Given the description of an element on the screen output the (x, y) to click on. 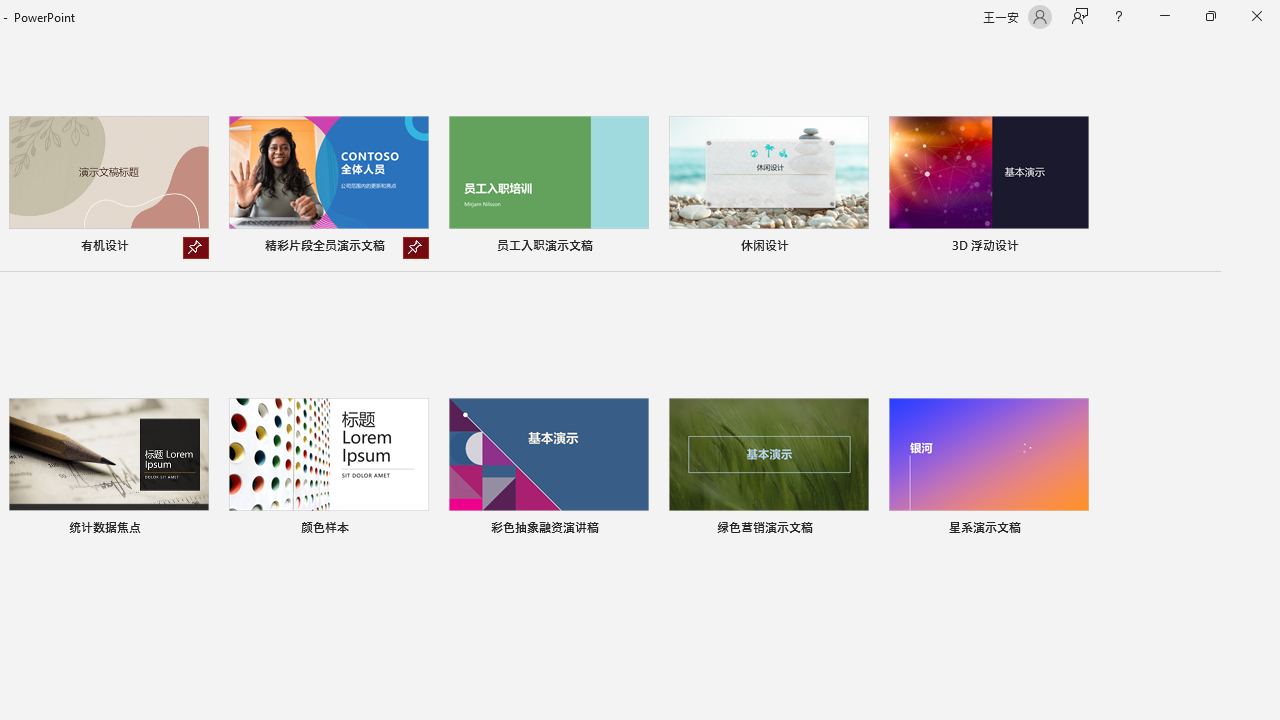
Pin to list (1075, 529)
